Given the description of an element on the screen output the (x, y) to click on. 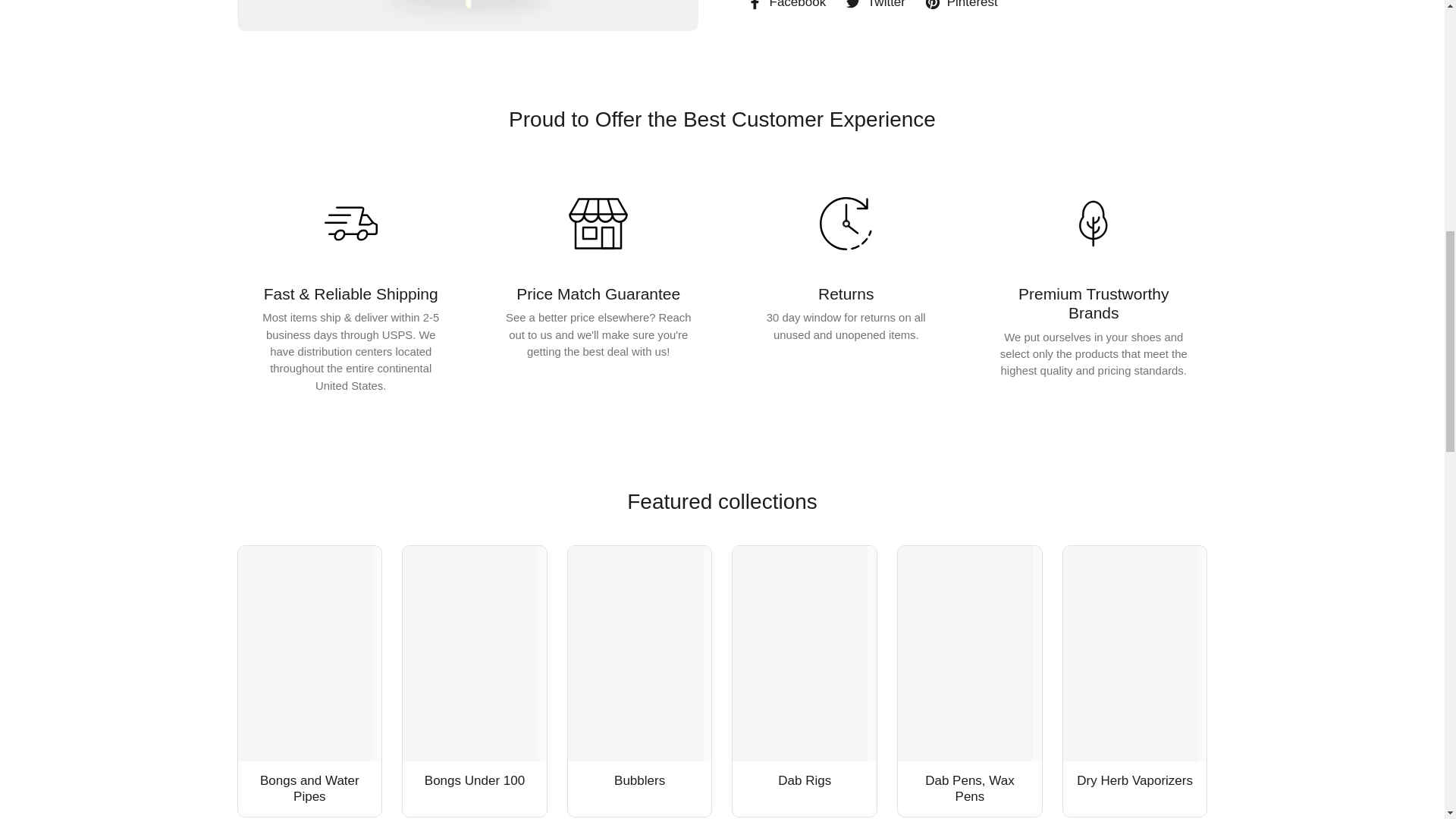
Share on pinterest (960, 6)
Share on twitter (874, 6)
Share on facebook (785, 6)
